Given the description of an element on the screen output the (x, y) to click on. 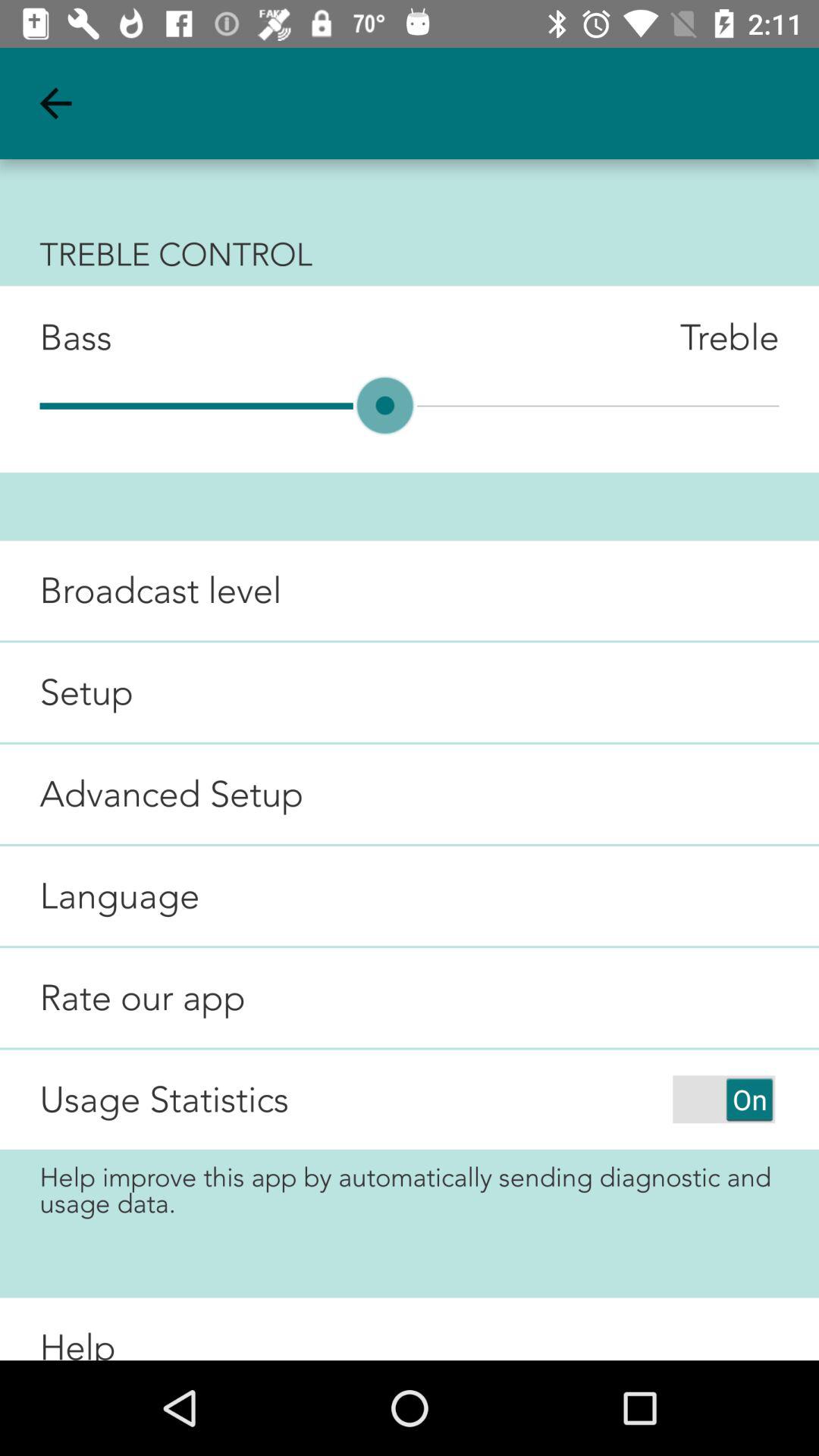
select item above rate our app icon (99, 895)
